Given the description of an element on the screen output the (x, y) to click on. 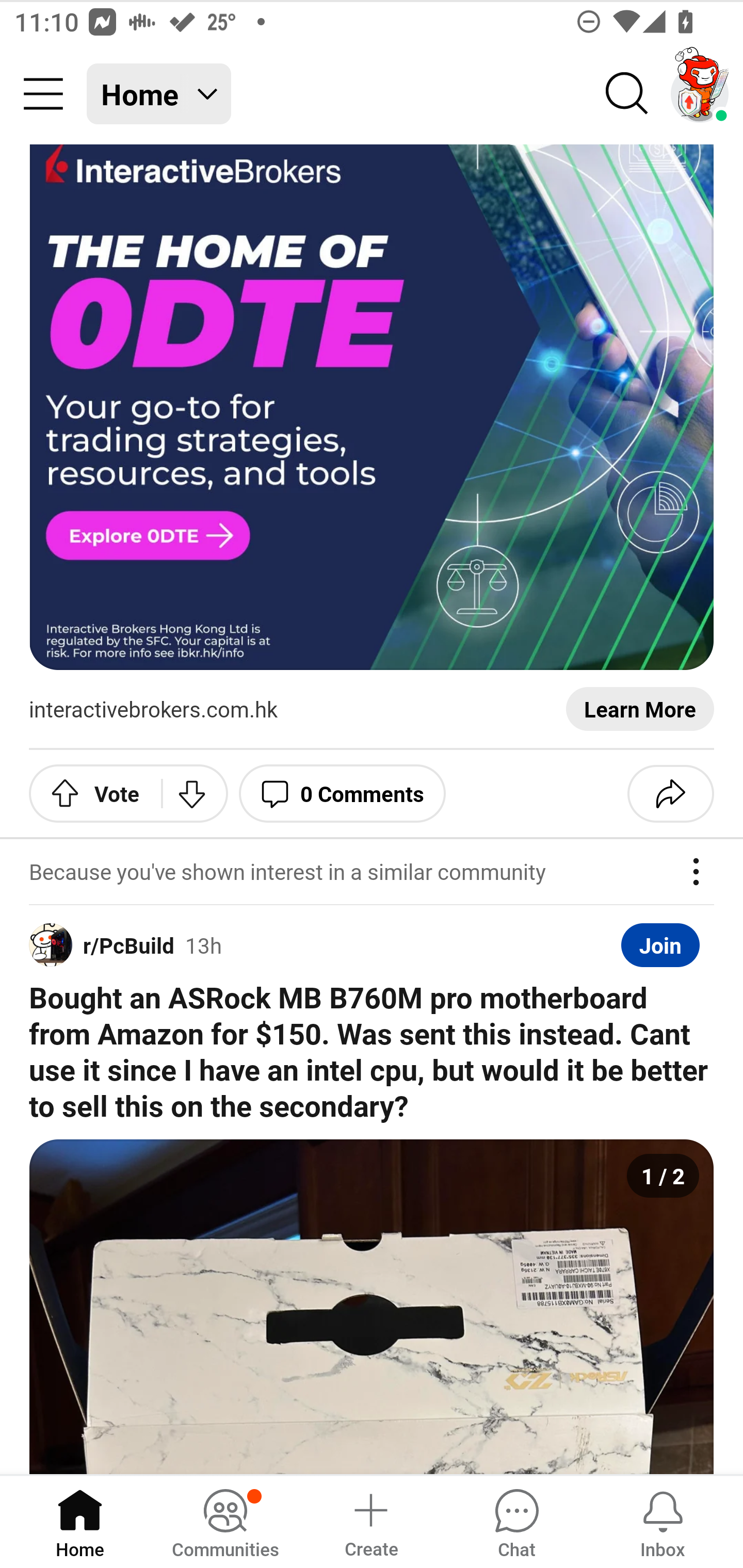
Community menu (43, 93)
Home Home feed (158, 93)
Search (626, 93)
TestAppium002 account (699, 93)
1 of 2, Image, In Image gallery 1 / 2 (371, 1306)
Home (80, 1520)
Communities, has notifications Communities (225, 1520)
Create a post Create (370, 1520)
Chat (516, 1520)
Inbox (662, 1520)
